Given the description of an element on the screen output the (x, y) to click on. 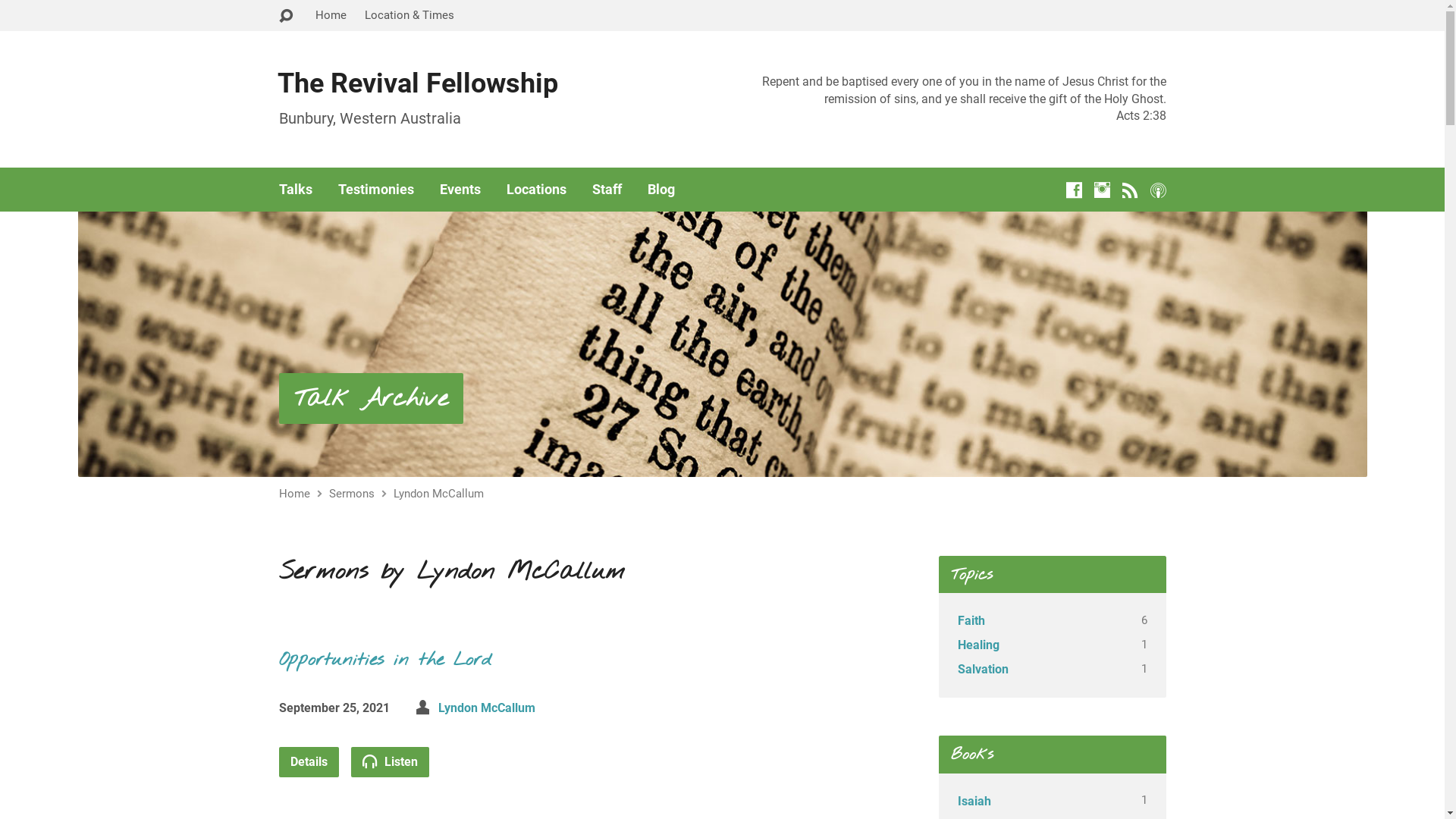
Blog Element type: text (660, 189)
Location & Times Element type: text (408, 14)
Isaiah Element type: text (973, 800)
Talks Element type: text (295, 189)
Events Element type: text (459, 189)
Talk Archive Element type: text (371, 398)
Details Element type: text (308, 761)
Toggle Search Element type: hover (285, 15)
Opportunities in the Lord Element type: text (385, 660)
The Revival Fellowship Element type: text (417, 83)
Lyndon McCallum Element type: text (437, 493)
Home Element type: text (330, 14)
Faith Element type: text (970, 620)
Facebook Element type: hover (1074, 189)
RSS Element type: hover (1130, 189)
Lyndon McCallum Element type: text (486, 707)
Healing Element type: text (977, 644)
Listen Element type: text (389, 761)
Salvation Element type: text (982, 669)
Podcast Element type: hover (1157, 189)
Locations Element type: text (536, 189)
Home Element type: text (294, 493)
Instagram Element type: hover (1101, 189)
Testimonies Element type: text (376, 189)
Staff Element type: text (606, 189)
Sermons Element type: text (351, 493)
